Given the description of an element on the screen output the (x, y) to click on. 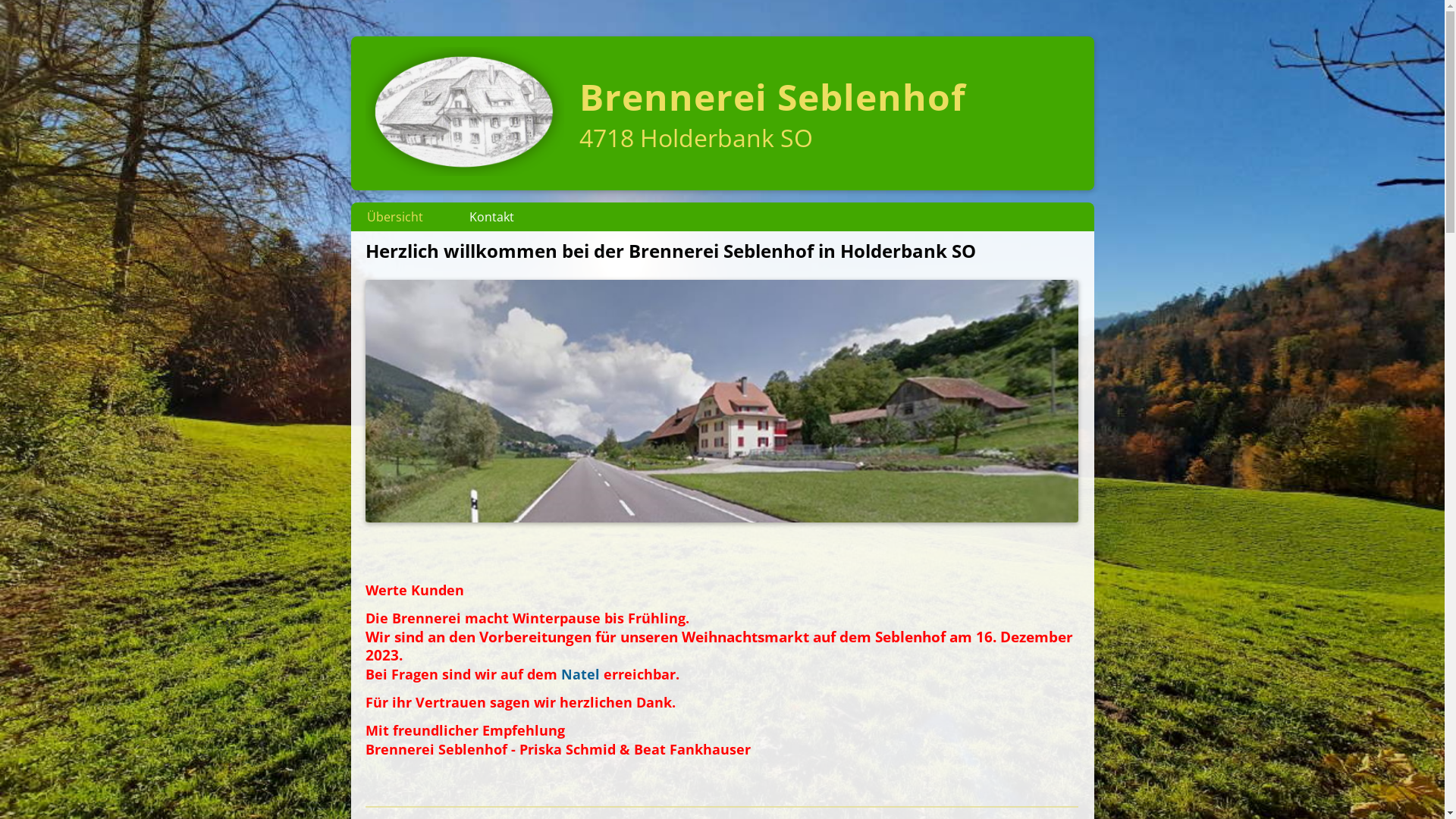
Kontakt Element type: text (491, 216)
Brennerei Seblenhof Element type: text (772, 96)
Natel Element type: text (580, 674)
Zur Startseite Element type: hover (464, 171)
